Given the description of an element on the screen output the (x, y) to click on. 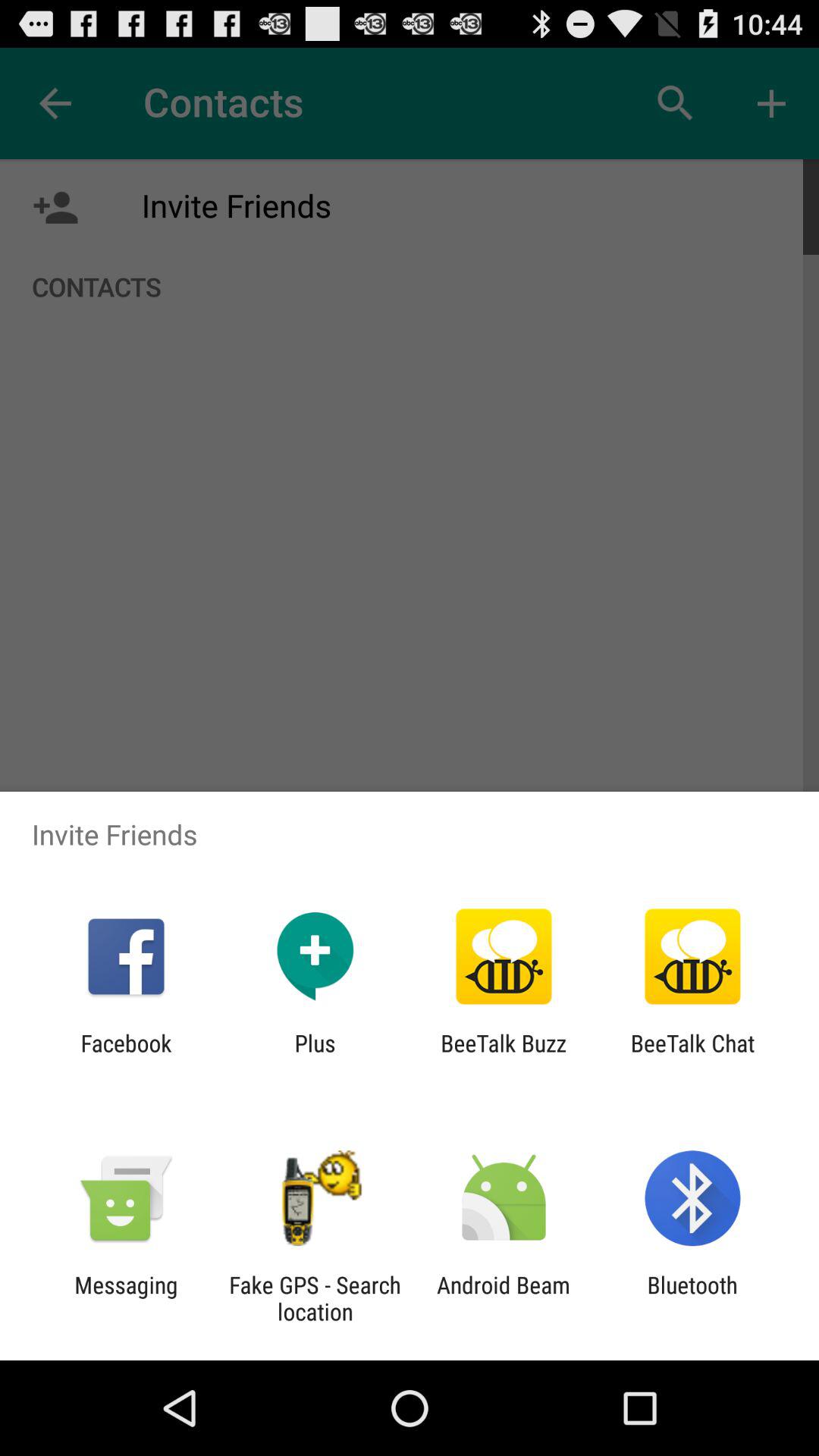
choose plus item (314, 1056)
